Given the description of an element on the screen output the (x, y) to click on. 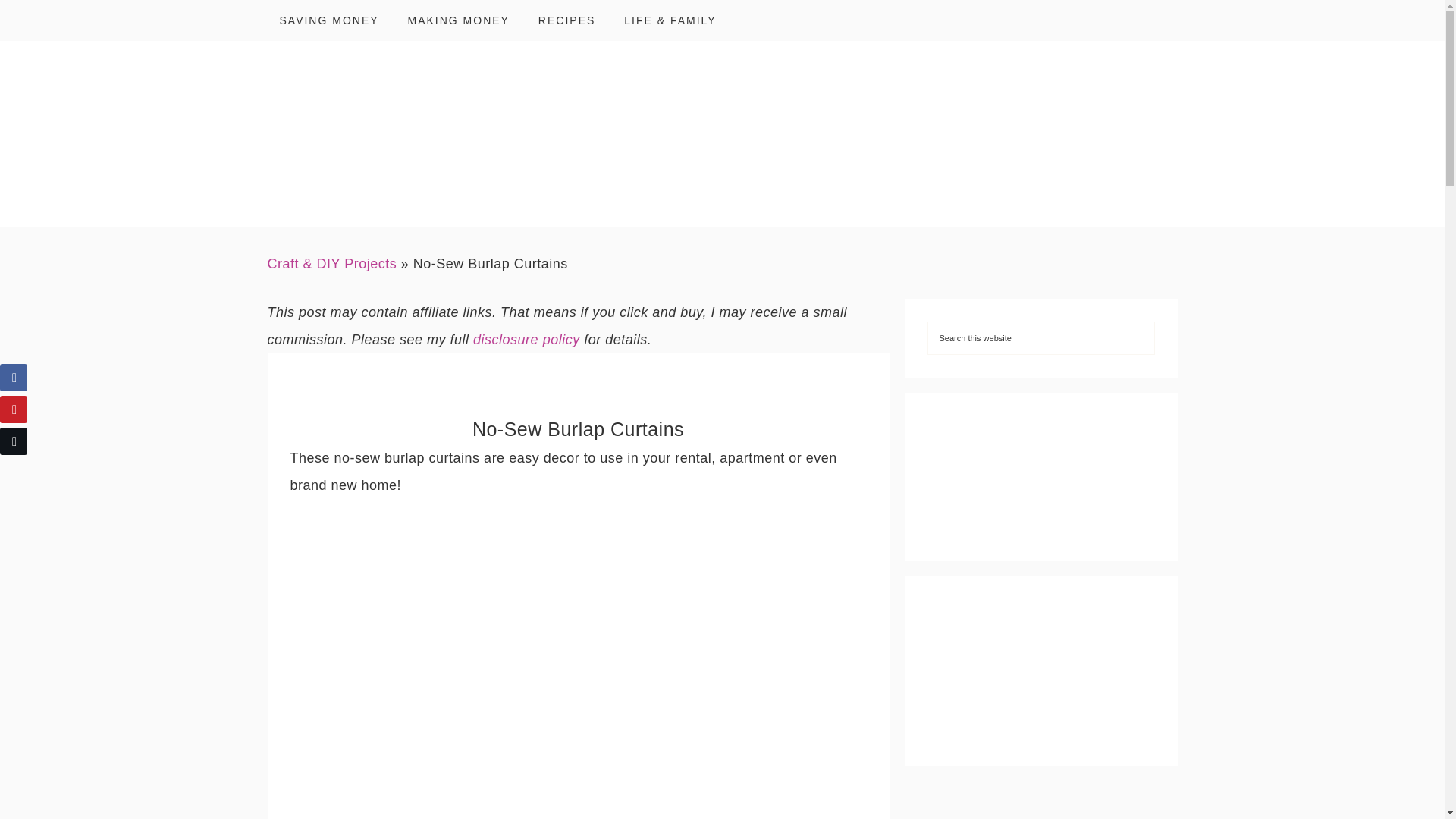
RECIPES (566, 20)
PENNY PINCHIN' MOM (722, 134)
disclosure policy (526, 339)
SAVING MONEY (328, 20)
MAKING MONEY (457, 20)
